Given the description of an element on the screen output the (x, y) to click on. 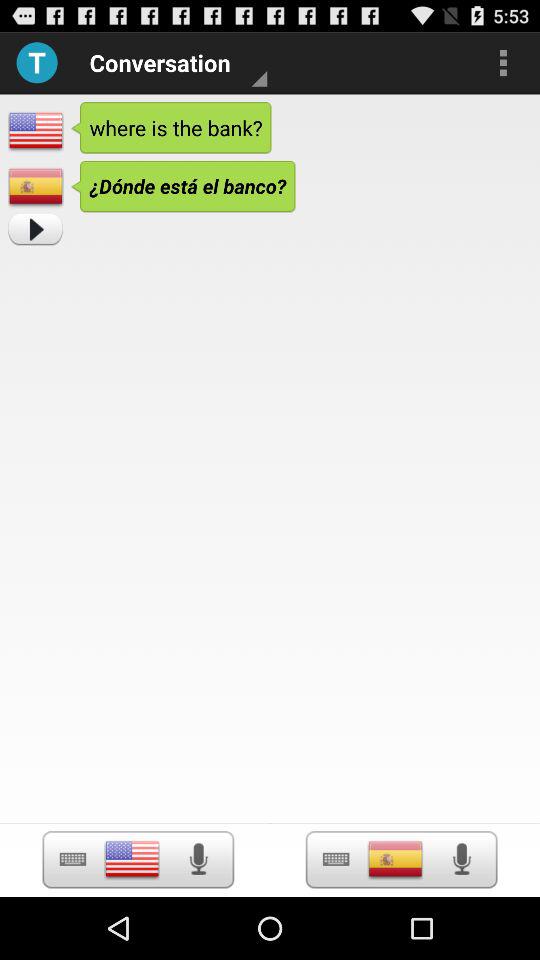
show keyboard (72, 859)
